Given the description of an element on the screen output the (x, y) to click on. 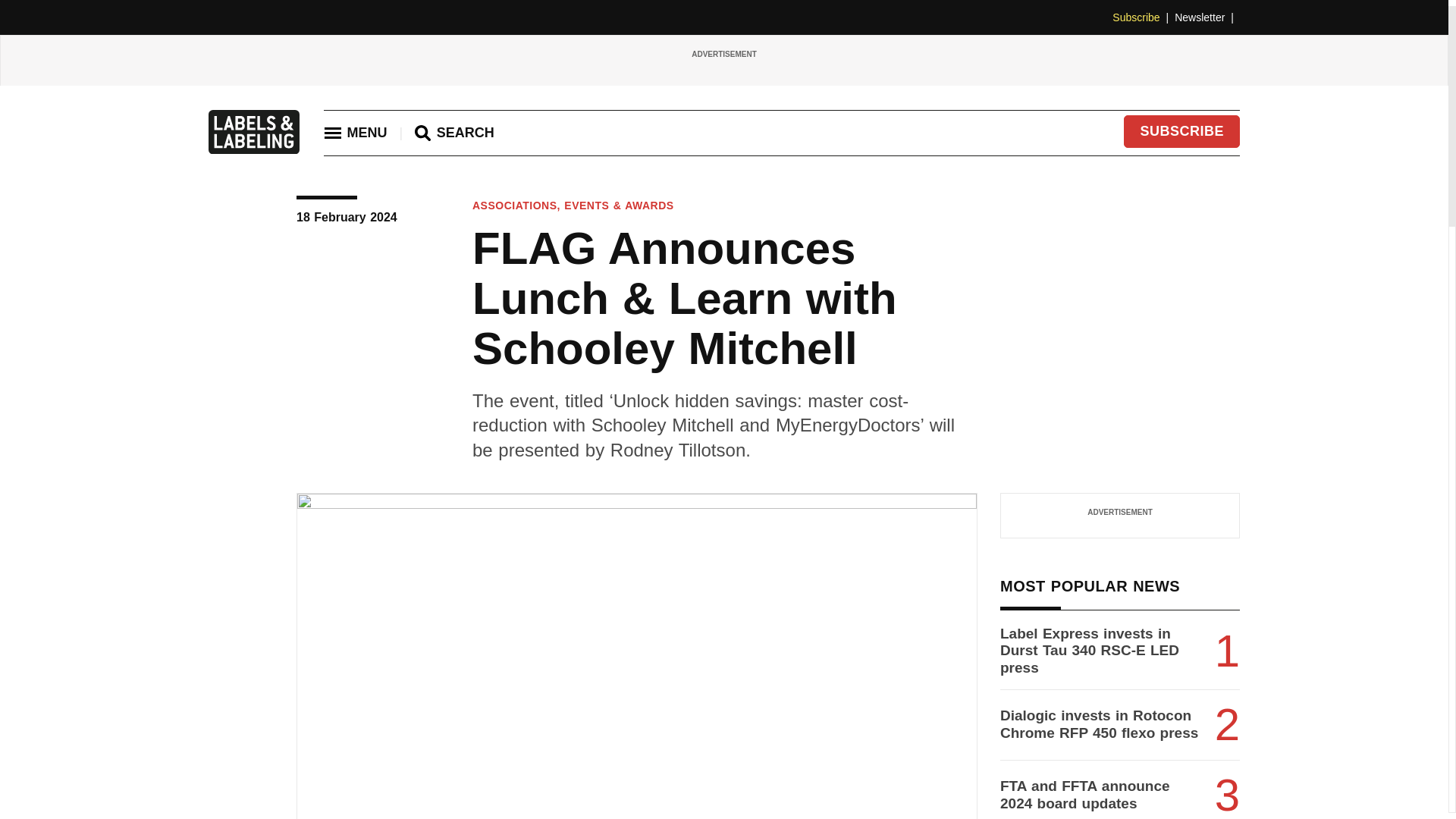
SUBSCRIBE (1182, 131)
Newsletter (1207, 17)
Subscribe (1143, 17)
MENU (355, 132)
SEARCH (454, 132)
